Given the description of an element on the screen output the (x, y) to click on. 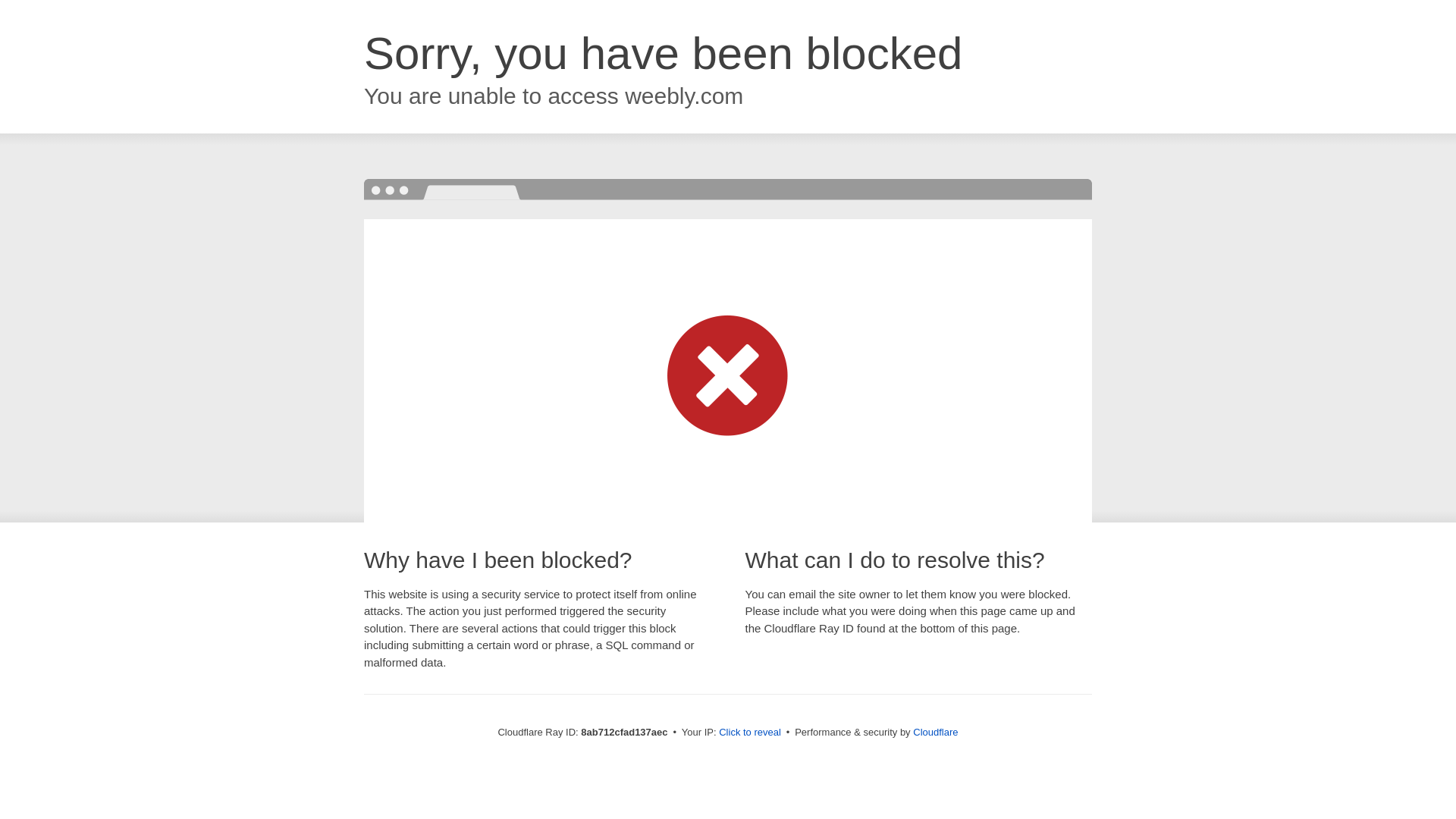
Click to reveal (749, 732)
Cloudflare (935, 731)
